Given the description of an element on the screen output the (x, y) to click on. 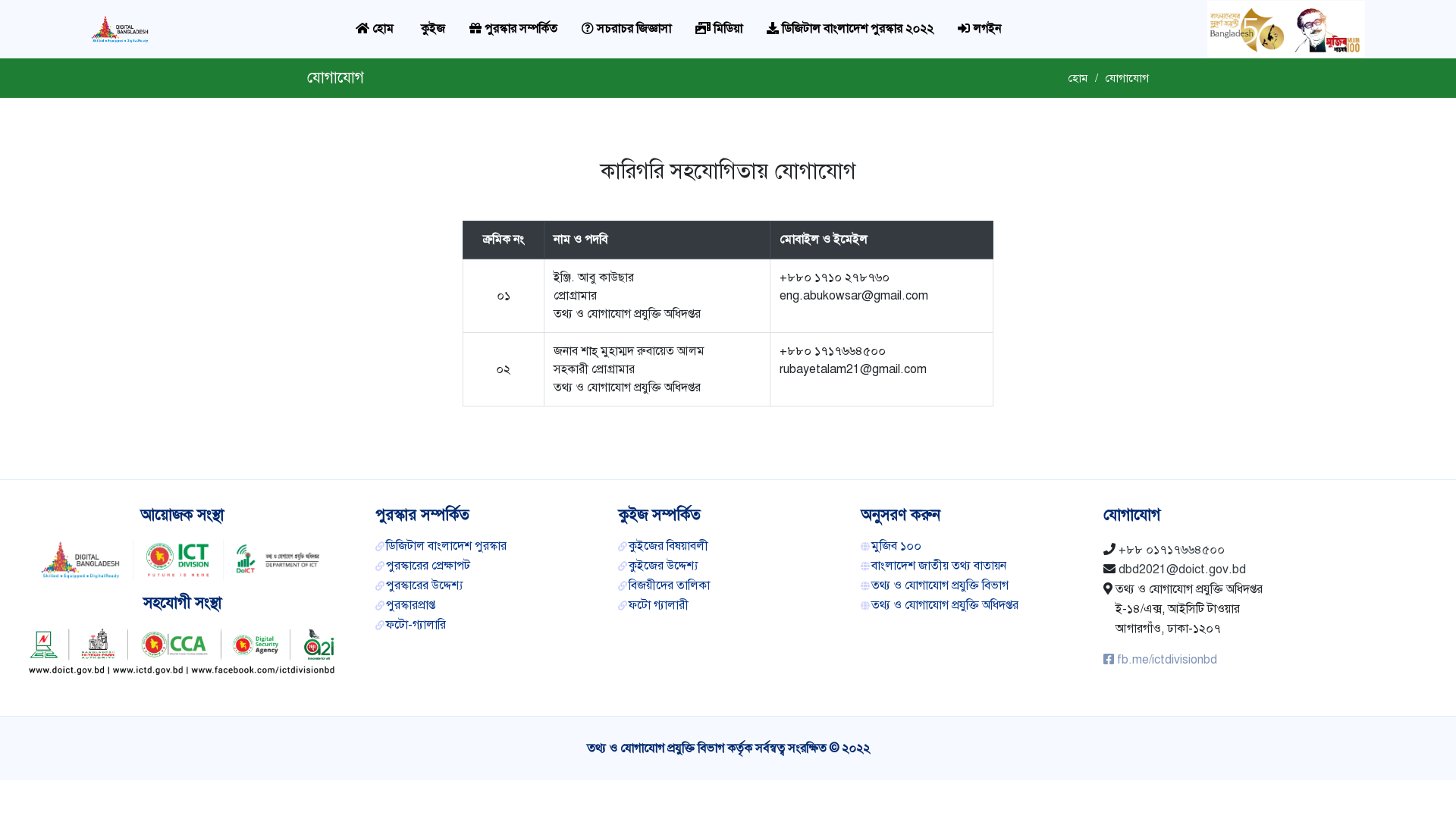
 fb.me/ictdivisionbd Element type: text (1160, 658)
dbd2021@doict.gov.bd Element type: text (1181, 569)
